Given the description of an element on the screen output the (x, y) to click on. 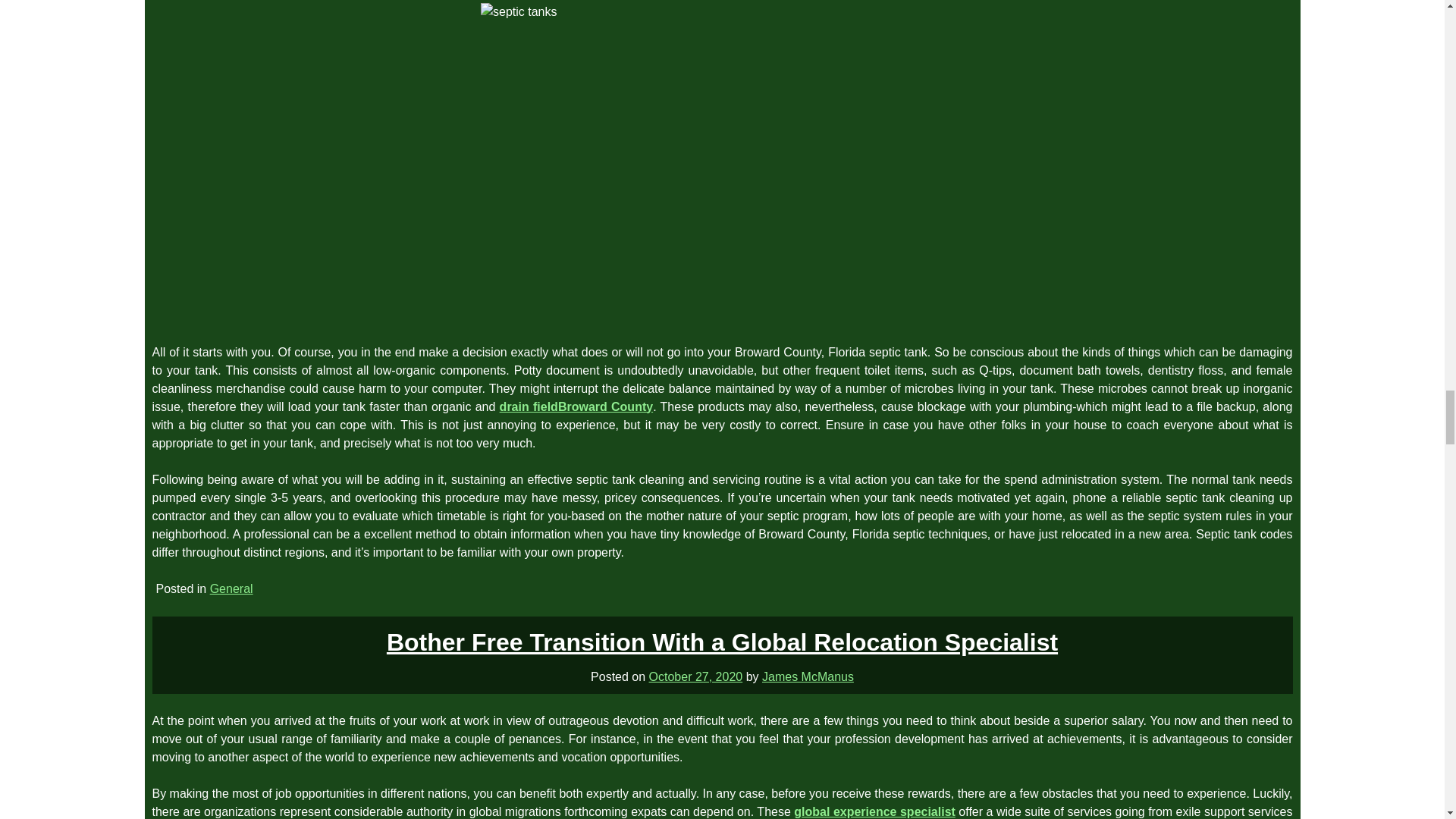
drain fieldBroward County (576, 406)
General (231, 588)
October 27, 2020 (695, 676)
Bother Free Transition With a Global Relocation Specialist (722, 641)
